Given the description of an element on the screen output the (x, y) to click on. 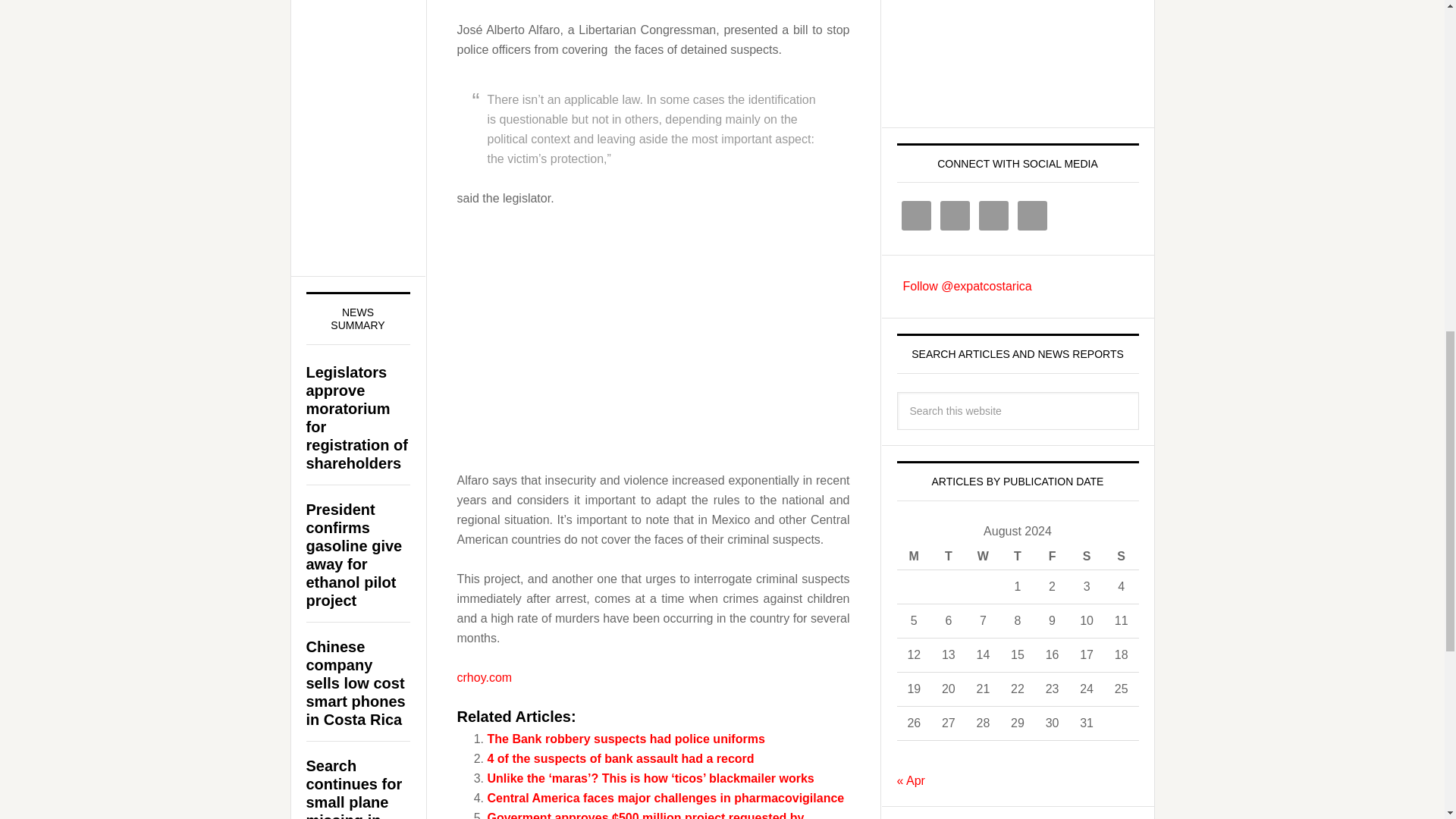
Central America faces major challenges in pharmacovigilance (665, 797)
4 of the suspects of bank assault had a record (620, 758)
The Bank robbery suspects had police uniforms (625, 738)
crhoy.com (484, 676)
Central America faces major challenges in pharmacovigilance (665, 797)
Advertisement (652, 394)
Monday (913, 556)
